Given the description of an element on the screen output the (x, y) to click on. 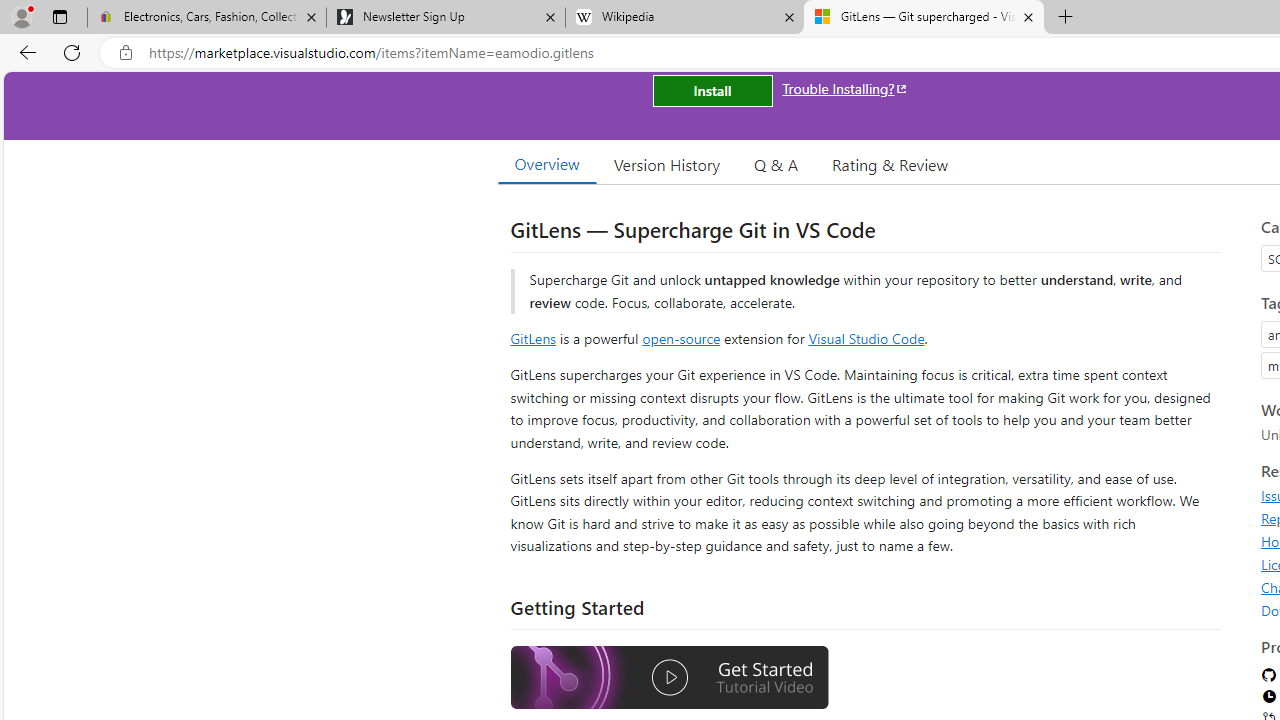
Watch the GitLens Getting Started video (669, 679)
GitLens (532, 337)
